Given the description of an element on the screen output the (x, y) to click on. 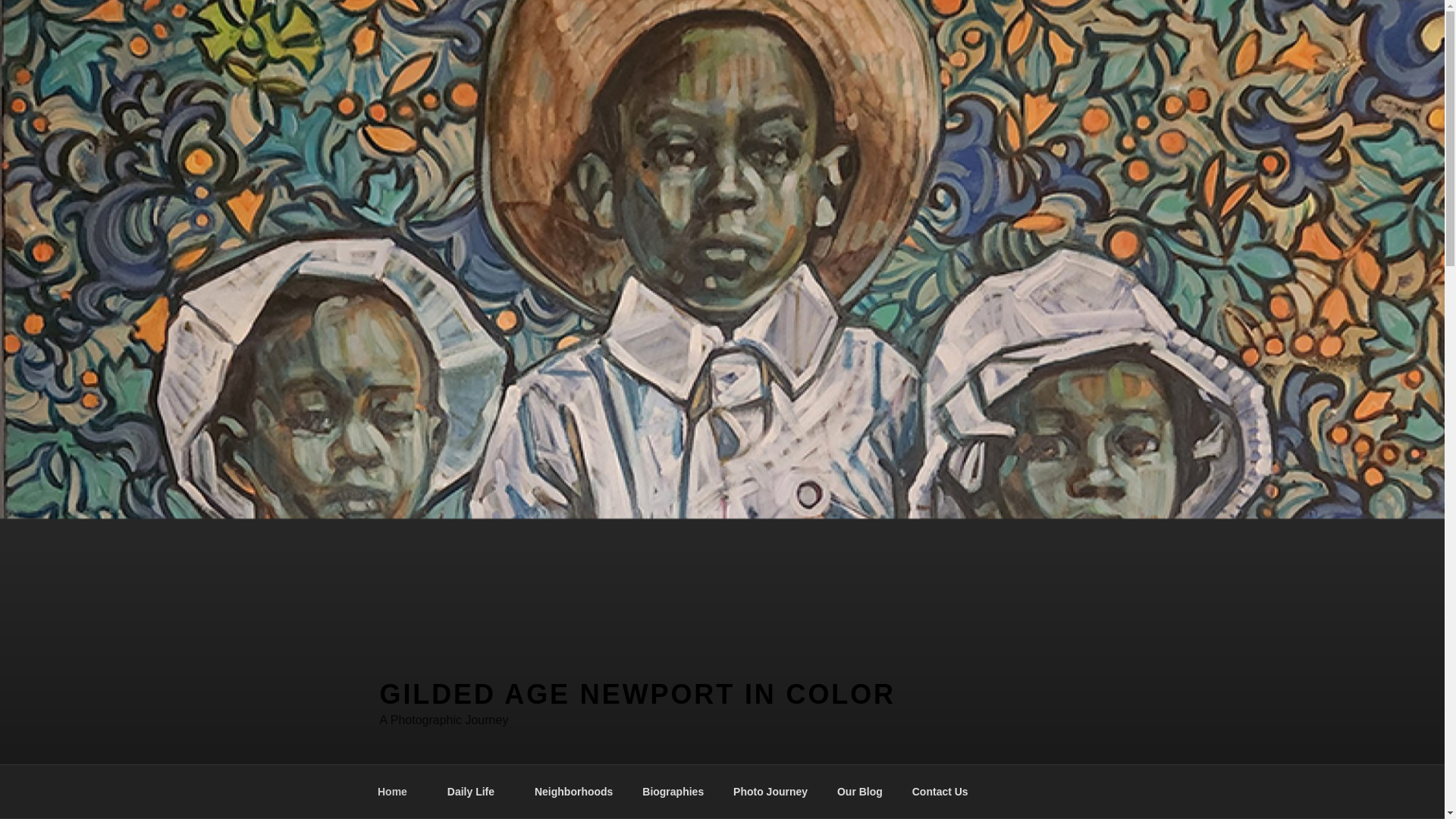
Scroll down to content (1082, 791)
Home (397, 791)
GILDED AGE NEWPORT IN COLOR (636, 694)
Biographies (672, 791)
Neighborhoods (573, 791)
Photo Journey (770, 791)
Our Blog (859, 791)
Contact Us (939, 791)
Daily Life (475, 791)
Scroll down to content (1082, 791)
